Given the description of an element on the screen output the (x, y) to click on. 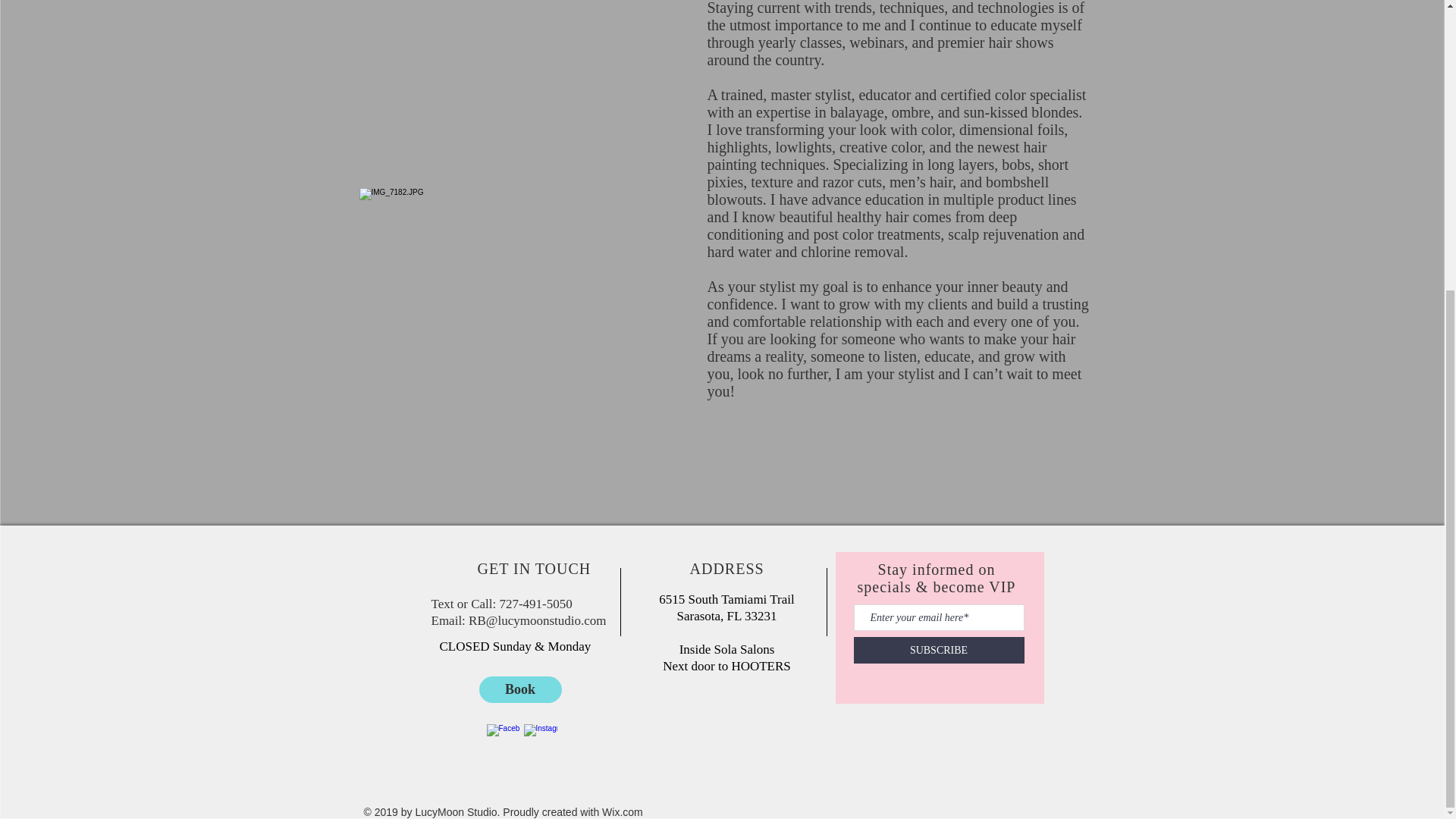
SUBSCRIBE (939, 650)
Wix.com (622, 811)
Book (520, 689)
